Given the description of an element on the screen output the (x, y) to click on. 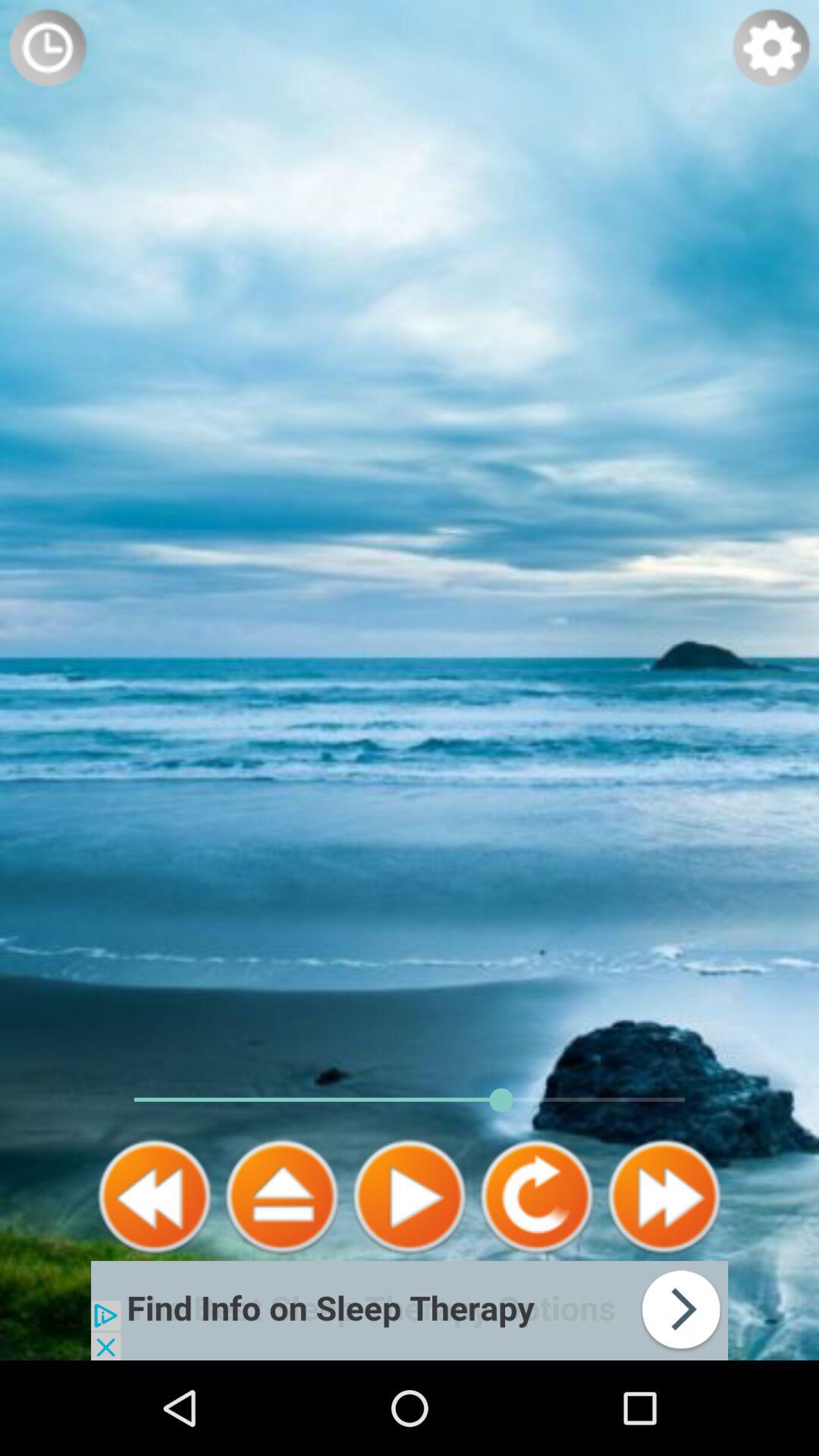
play media (409, 1196)
